Given the description of an element on the screen output the (x, y) to click on. 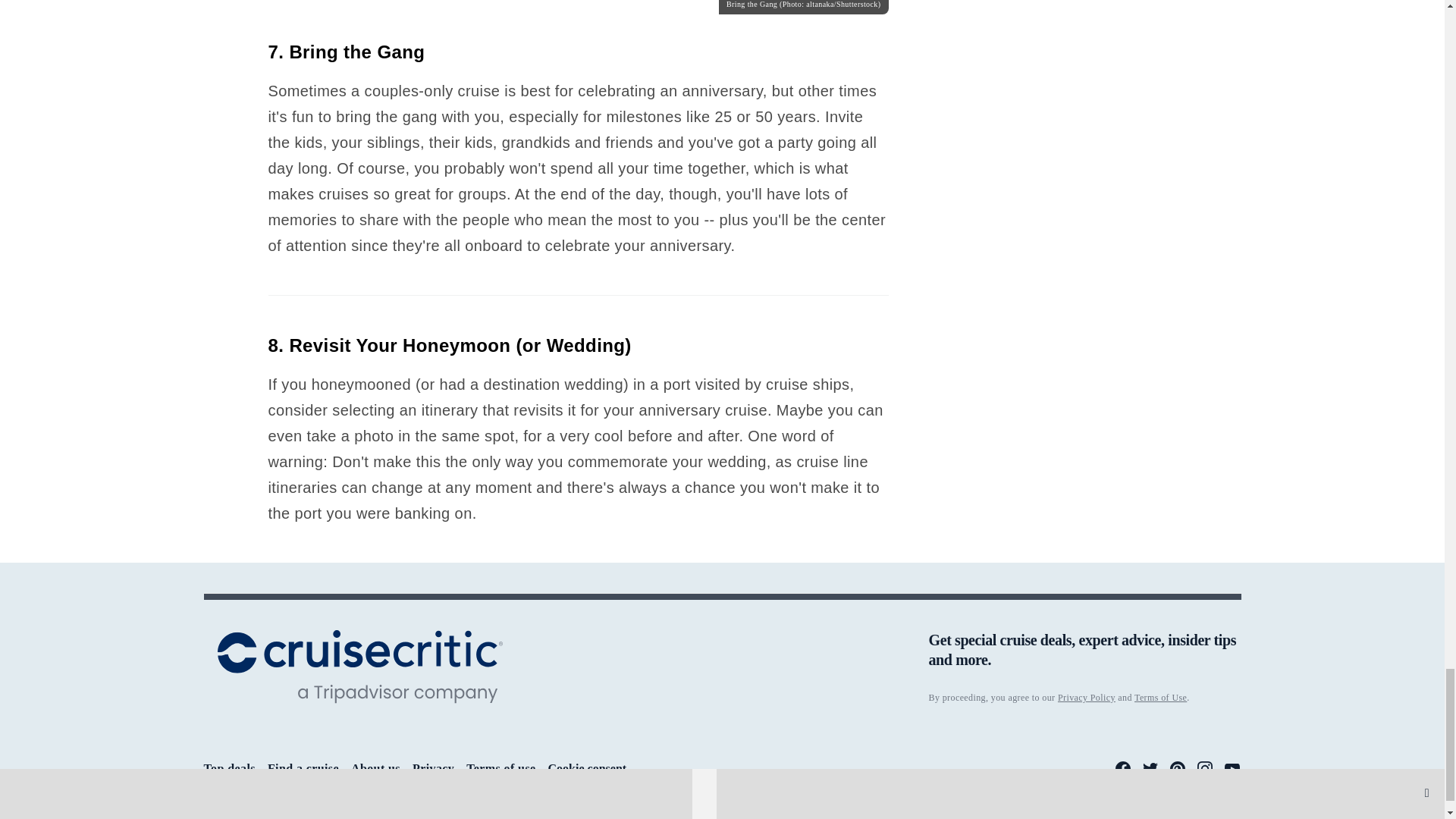
Terms of Use (1160, 697)
Find a cruise (303, 768)
Privacy (433, 768)
Cookie consent (587, 769)
About us (375, 768)
Terms of use (500, 768)
Privacy Policy (1086, 697)
Top deals (228, 768)
